Given the description of an element on the screen output the (x, y) to click on. 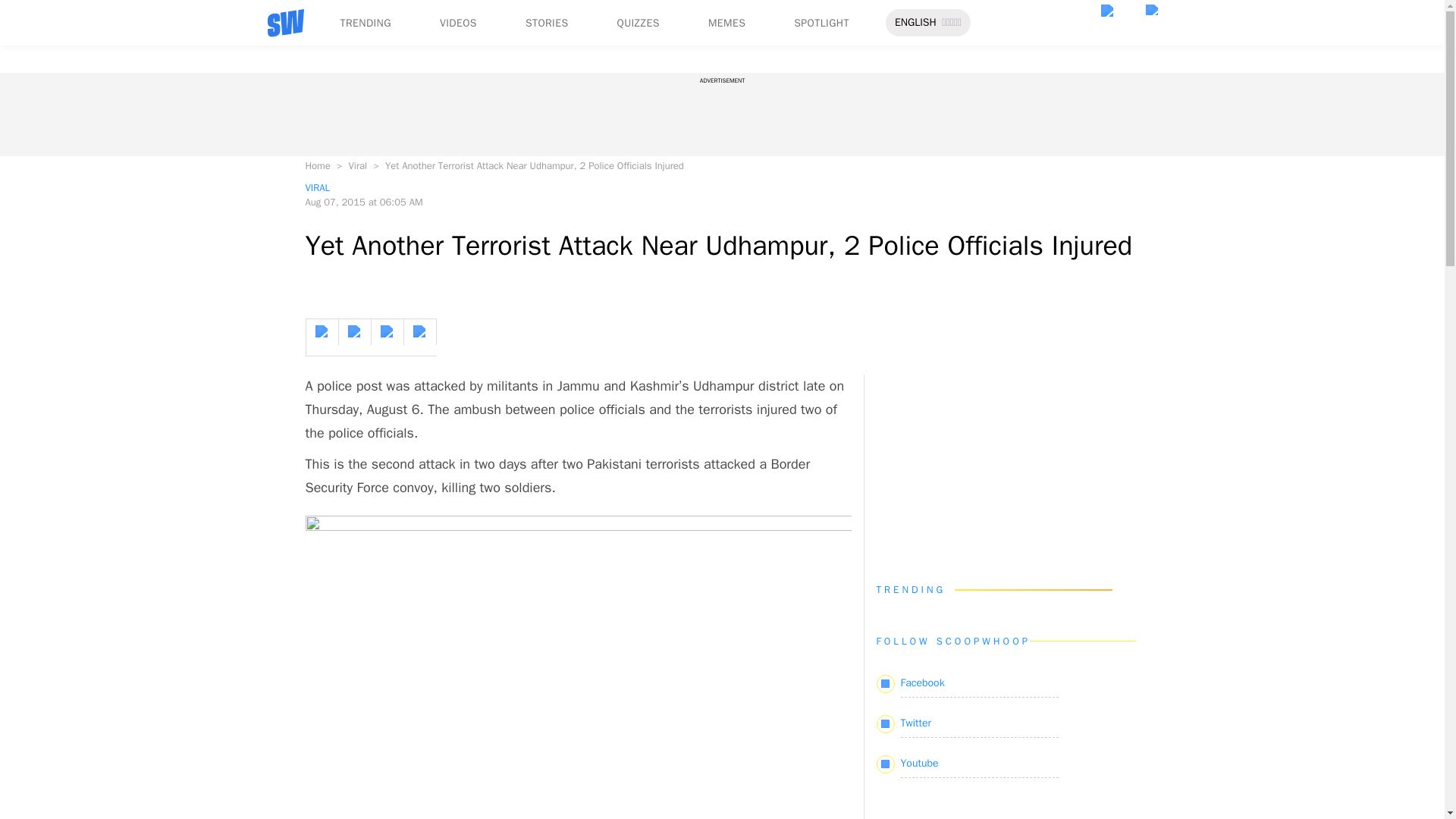
VIDEOS (458, 22)
MEMES (726, 22)
TRENDING (364, 22)
SPOTLIGHT (820, 22)
STORIES (547, 22)
QUIZZES (638, 22)
ENGLISH (915, 22)
